Given the description of an element on the screen output the (x, y) to click on. 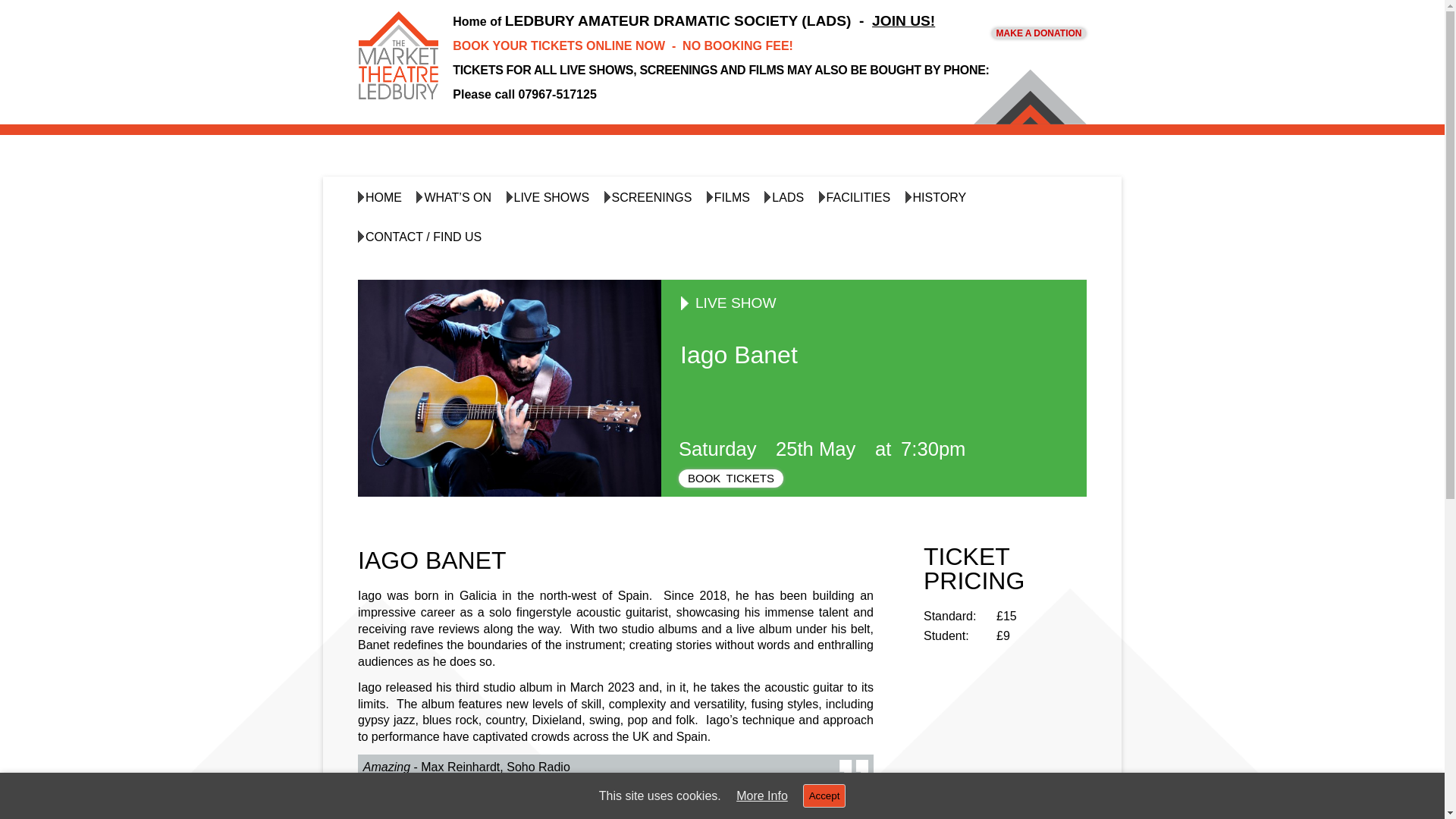
FILMS (733, 197)
LIVE SHOWS (553, 197)
Skip to content (762, 182)
FACILITIES (859, 197)
HOME (385, 197)
The Market Theatre Ledbury (398, 94)
Skip to content (762, 182)
LADS (789, 197)
MAKE A DONATION (1038, 32)
Donate (1038, 32)
HISTORY (941, 197)
SCREENINGS (653, 197)
BOOK YOUR TICKETS ONLINE NOW  -  NO BOOKING FEE! (622, 45)
